Given the description of an element on the screen output the (x, y) to click on. 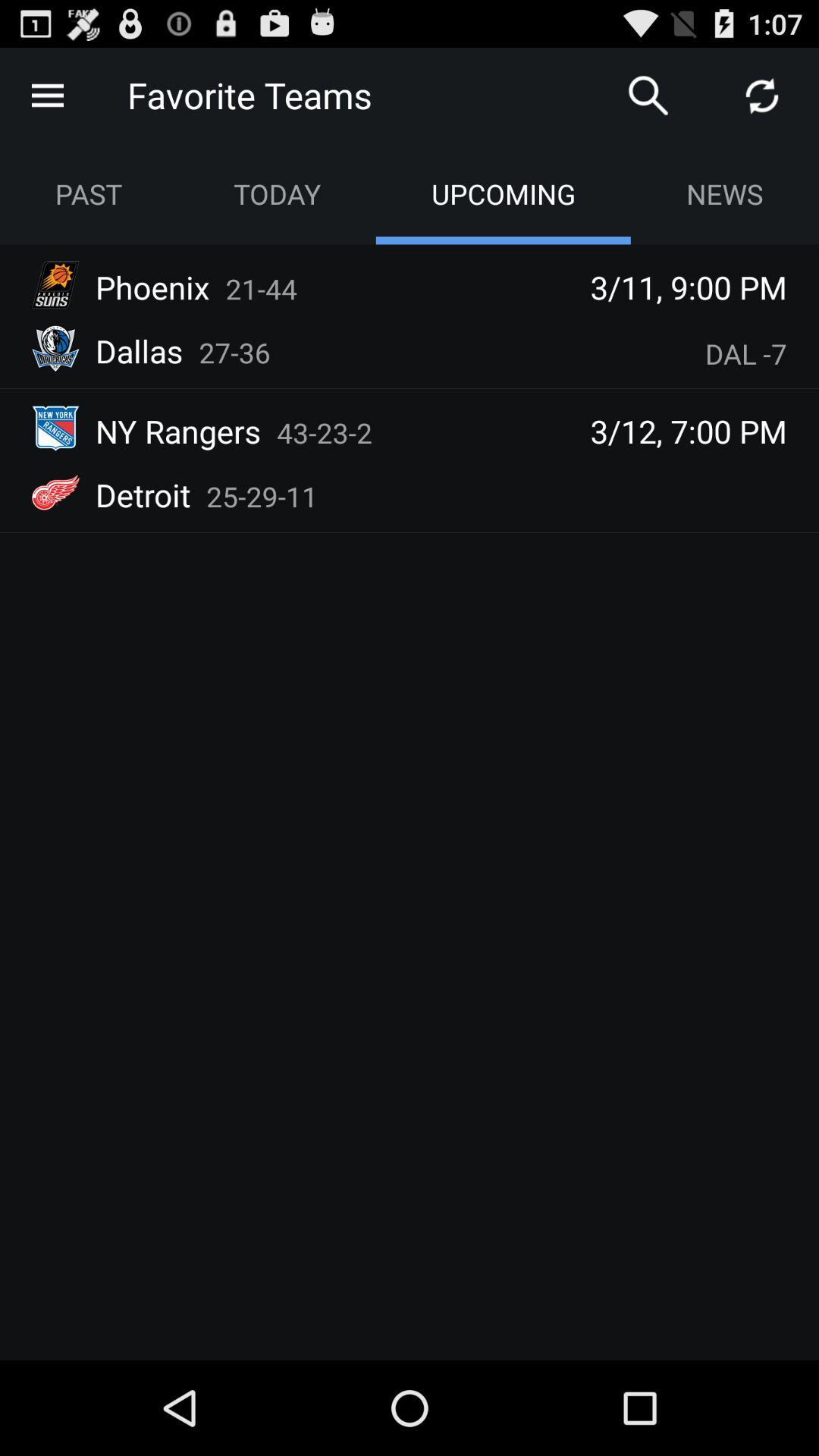
tap icon to the left of dal -7 (234, 352)
